Given the description of an element on the screen output the (x, y) to click on. 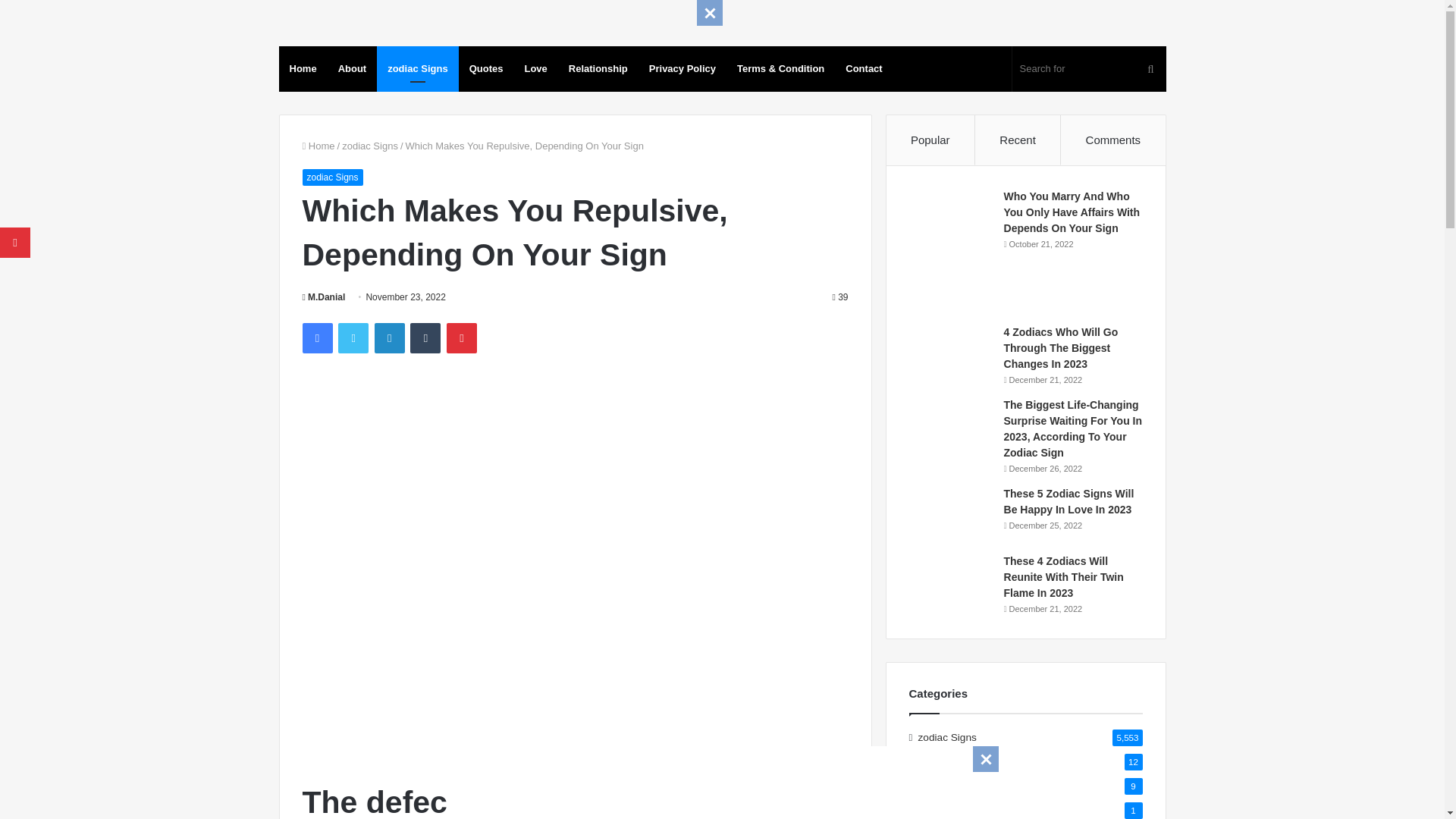
Privacy Policy (682, 68)
Facebook (316, 337)
LinkedIn (389, 337)
Relationship (598, 68)
zodiac Signs (417, 68)
Tumblr (425, 337)
Search for (1088, 68)
zodiac Signs (369, 145)
Home (303, 68)
Pinterest (461, 337)
Facebook (316, 337)
Quotes (485, 68)
Twitter (352, 337)
zodiac Signs (331, 176)
M.Danial (323, 296)
